Given the description of an element on the screen output the (x, y) to click on. 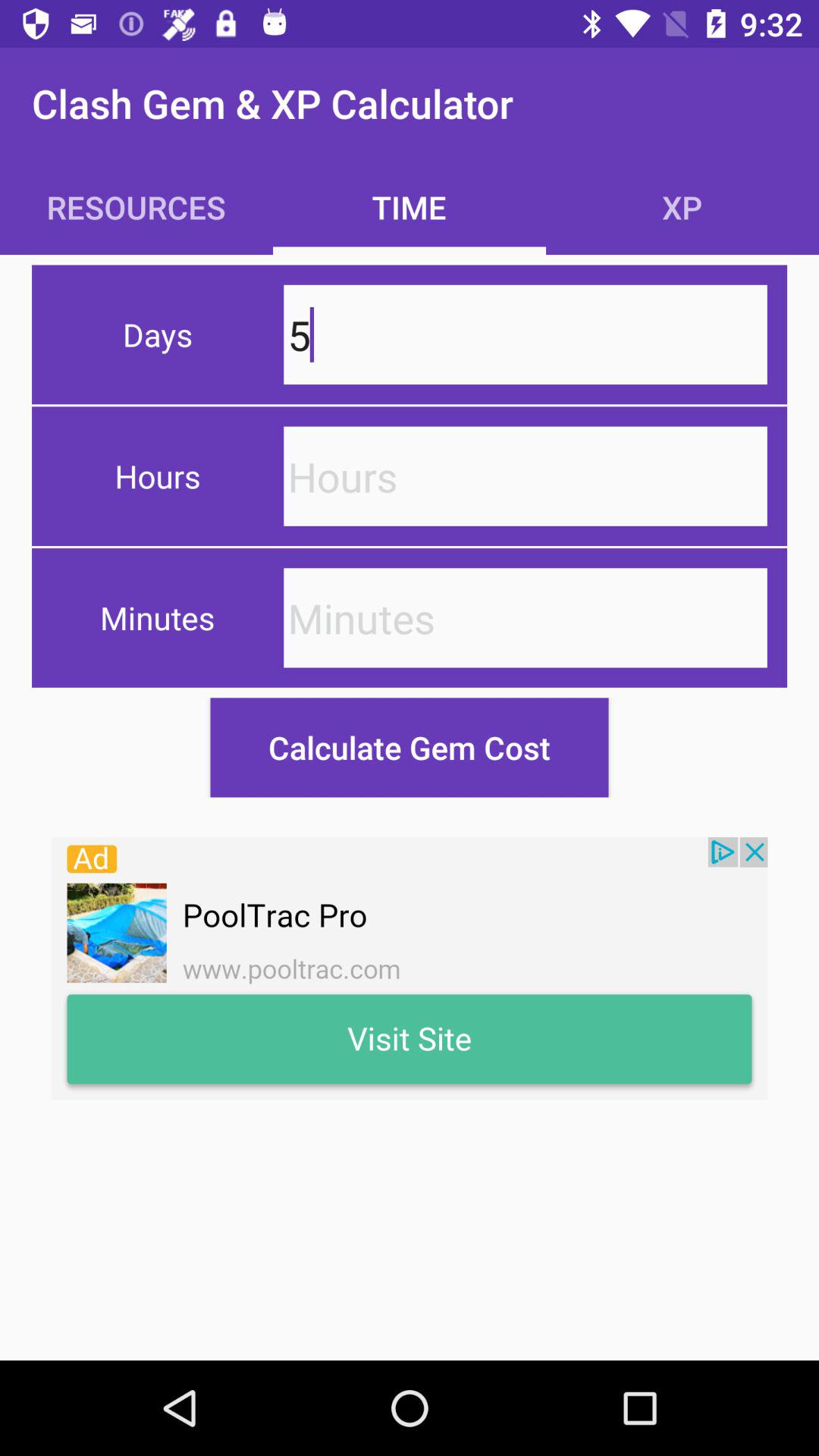
add information (525, 617)
